Given the description of an element on the screen output the (x, y) to click on. 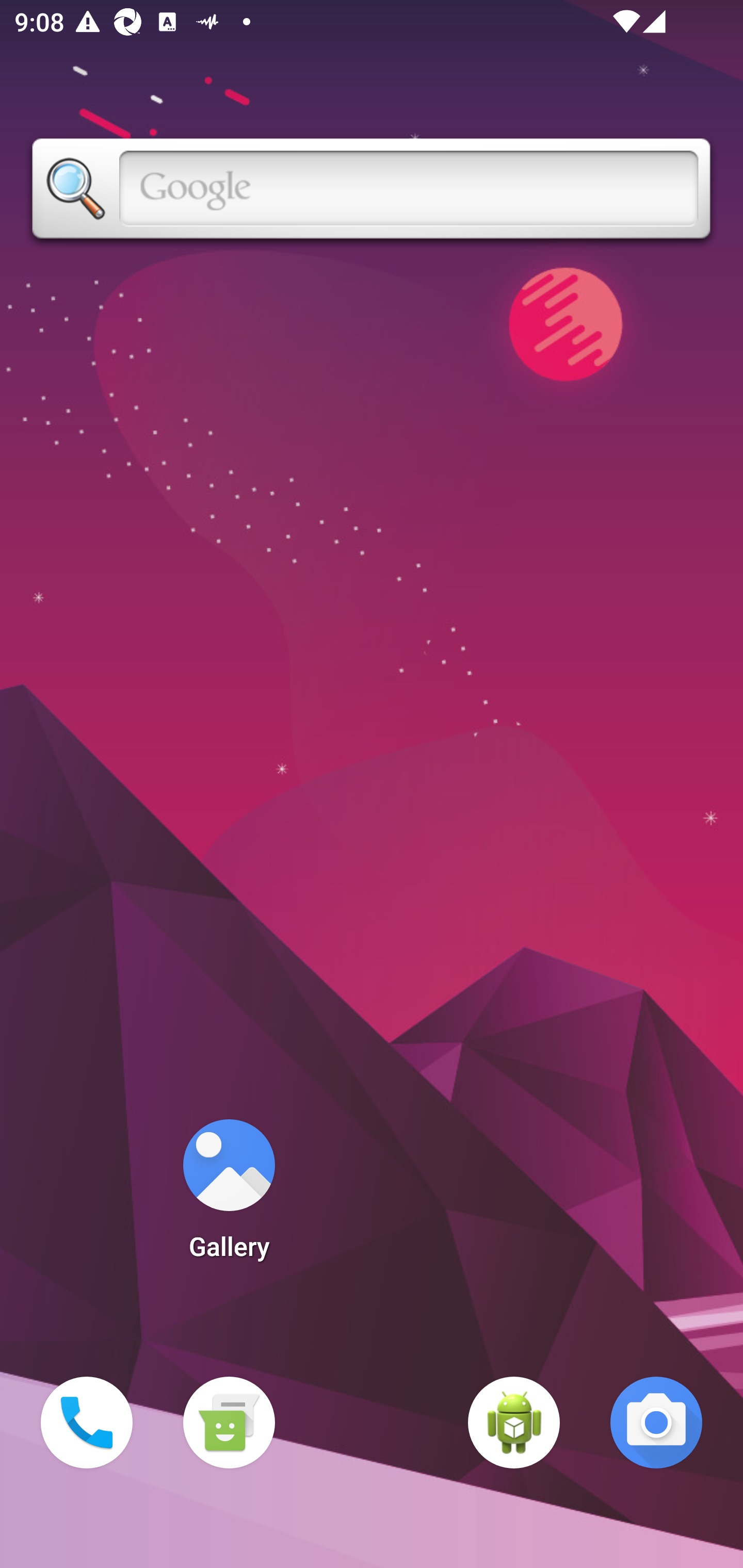
Gallery (228, 1195)
Phone (86, 1422)
Messaging (228, 1422)
WebView Browser Tester (513, 1422)
Camera (656, 1422)
